Given the description of an element on the screen output the (x, y) to click on. 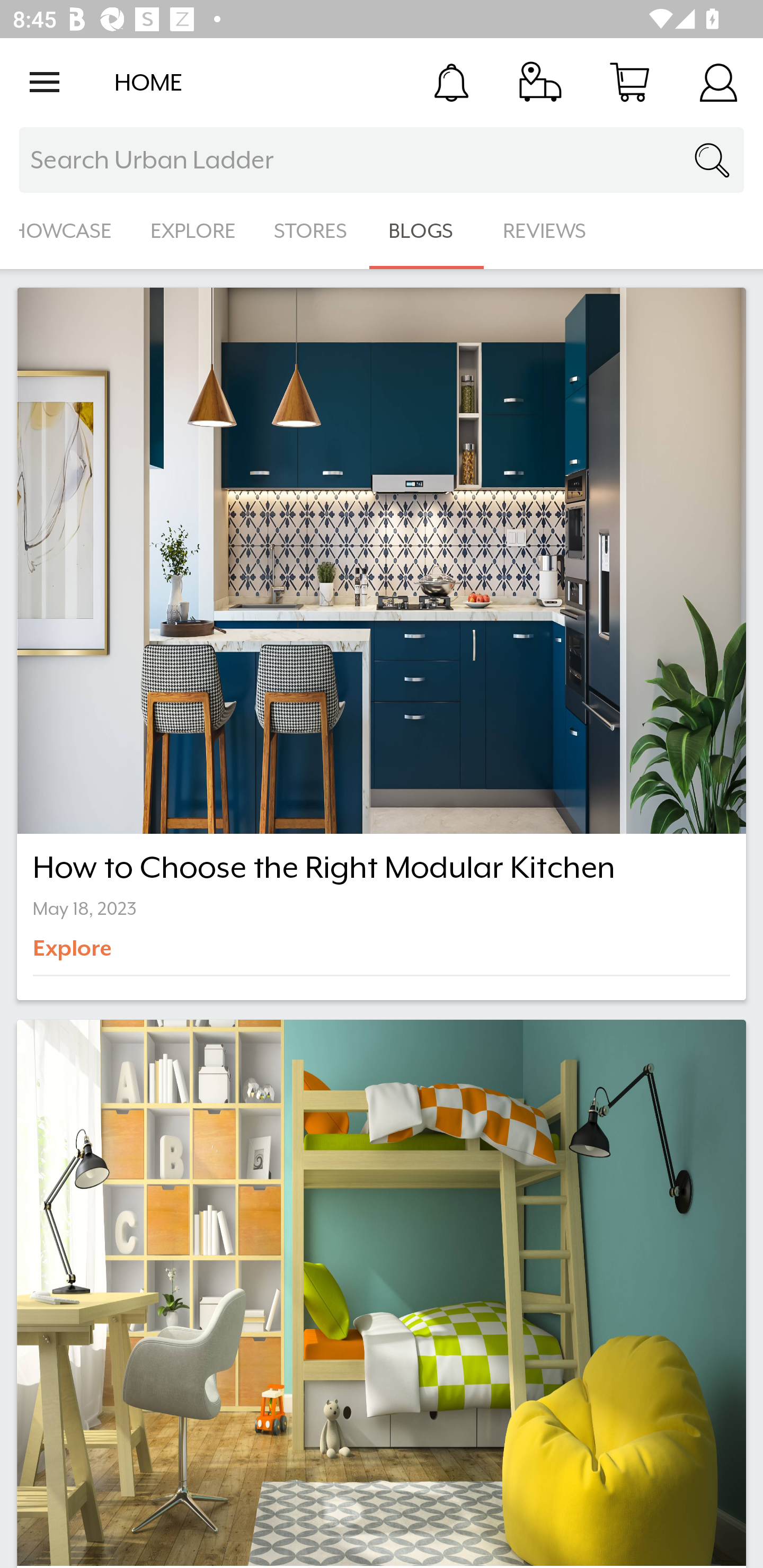
Open navigation drawer (44, 82)
Notification (450, 81)
Track Order (540, 81)
Cart (629, 81)
Account Details (718, 81)
Search Urban Ladder  (381, 159)
SHOWCASE (65, 230)
EXPLORE (192, 230)
STORES (311, 230)
BLOGS (426, 230)
REVIEWS (544, 230)
Explore (102, 954)
